Given the description of an element on the screen output the (x, y) to click on. 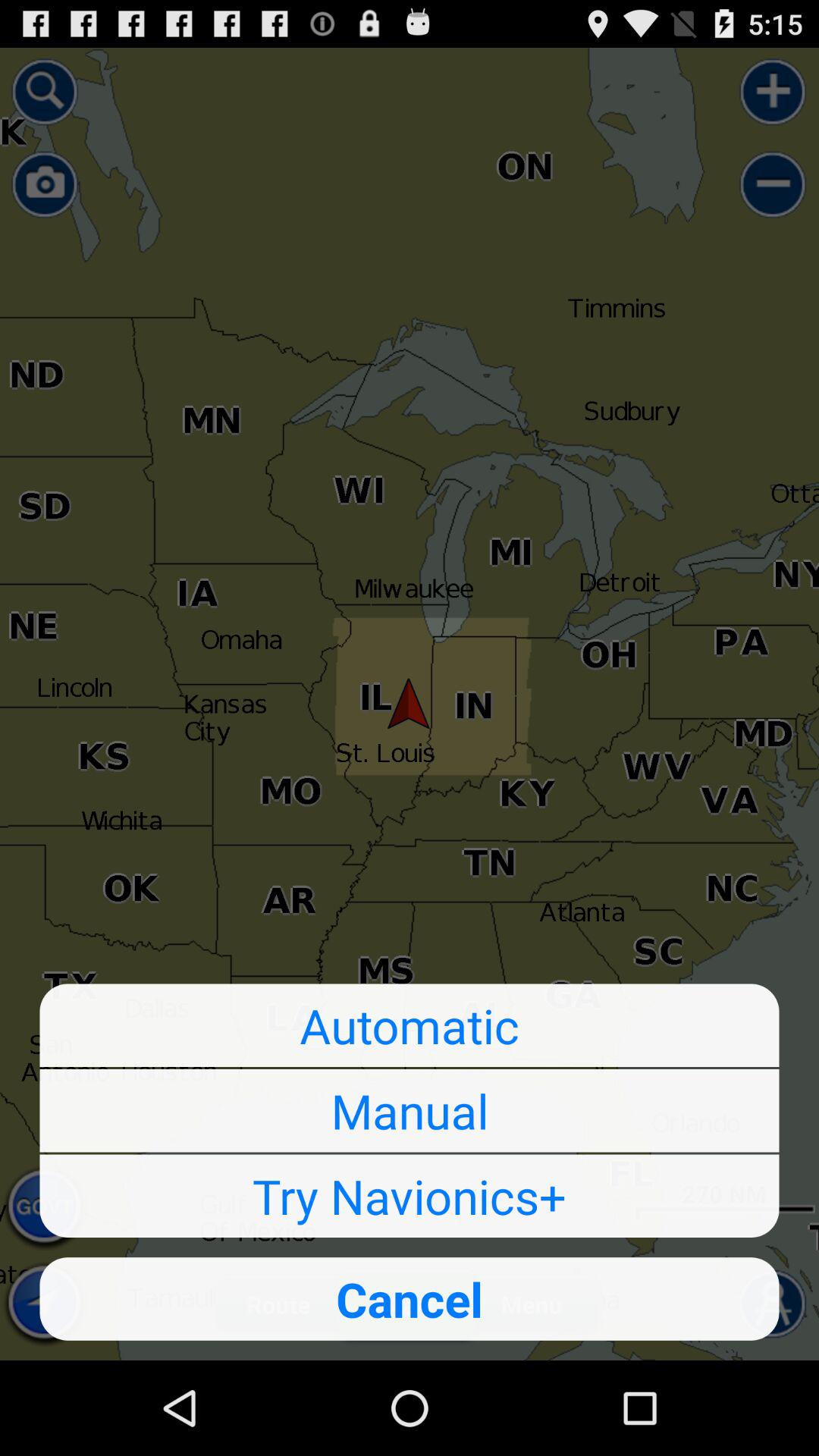
jump until the cancel button (409, 1298)
